Given the description of an element on the screen output the (x, y) to click on. 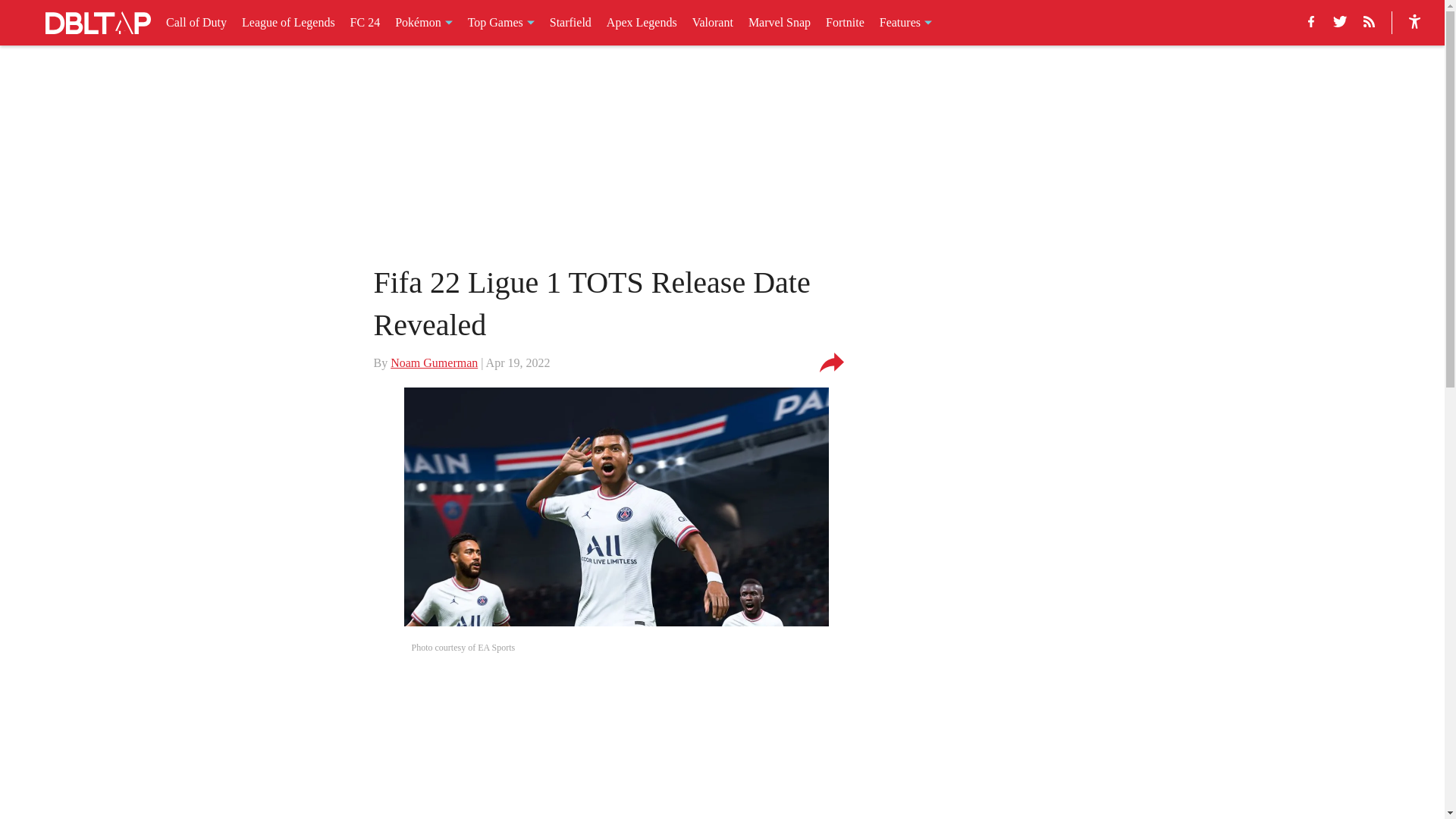
Valorant (713, 22)
FC 24 (365, 22)
Features (905, 22)
Starfield (570, 22)
Apex Legends (642, 22)
Marvel Snap (779, 22)
Fortnite (844, 22)
League of Legends (287, 22)
Top Games (500, 22)
Call of Duty (196, 22)
